Given the description of an element on the screen output the (x, y) to click on. 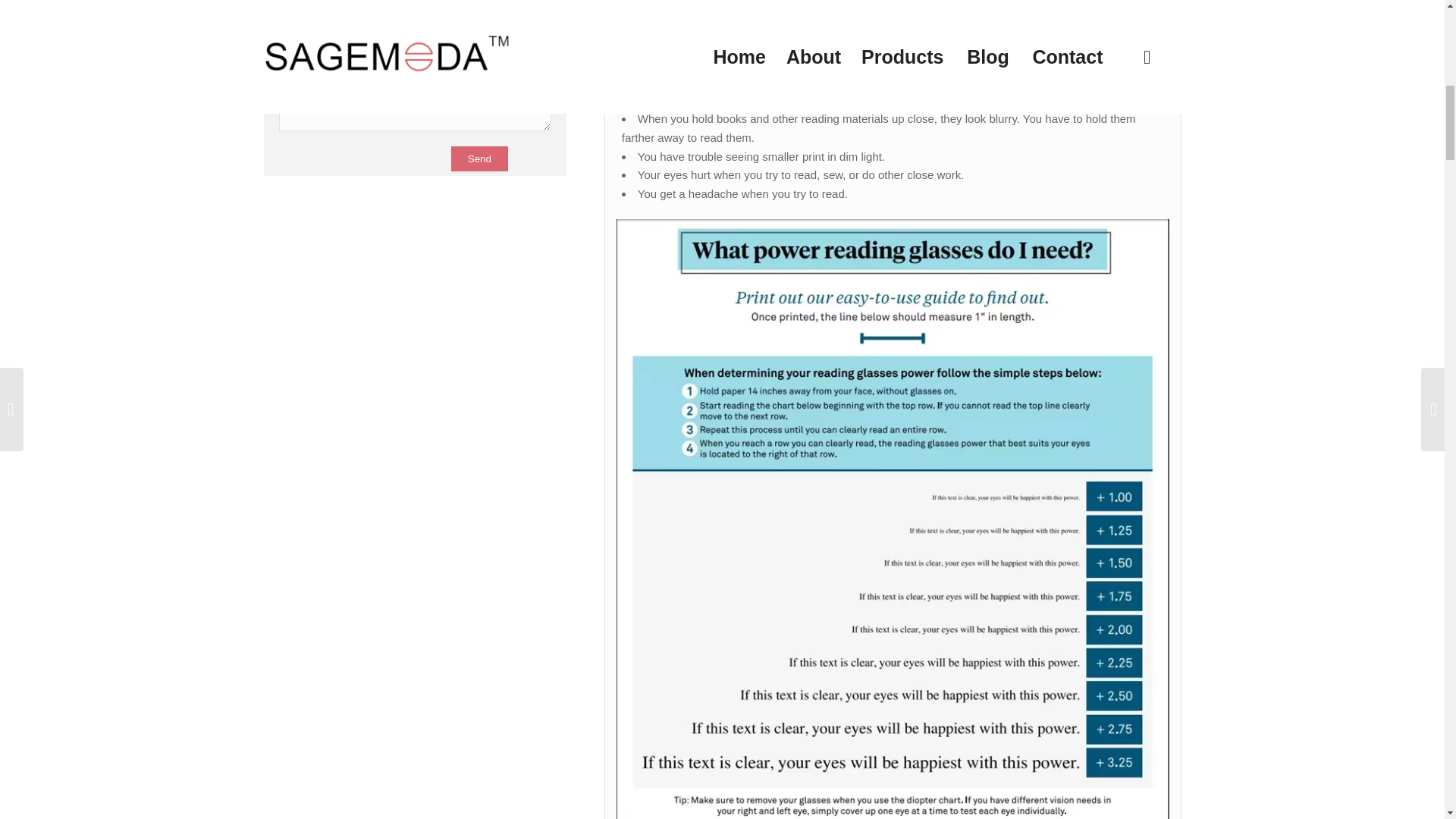
Send (479, 158)
